Given the description of an element on the screen output the (x, y) to click on. 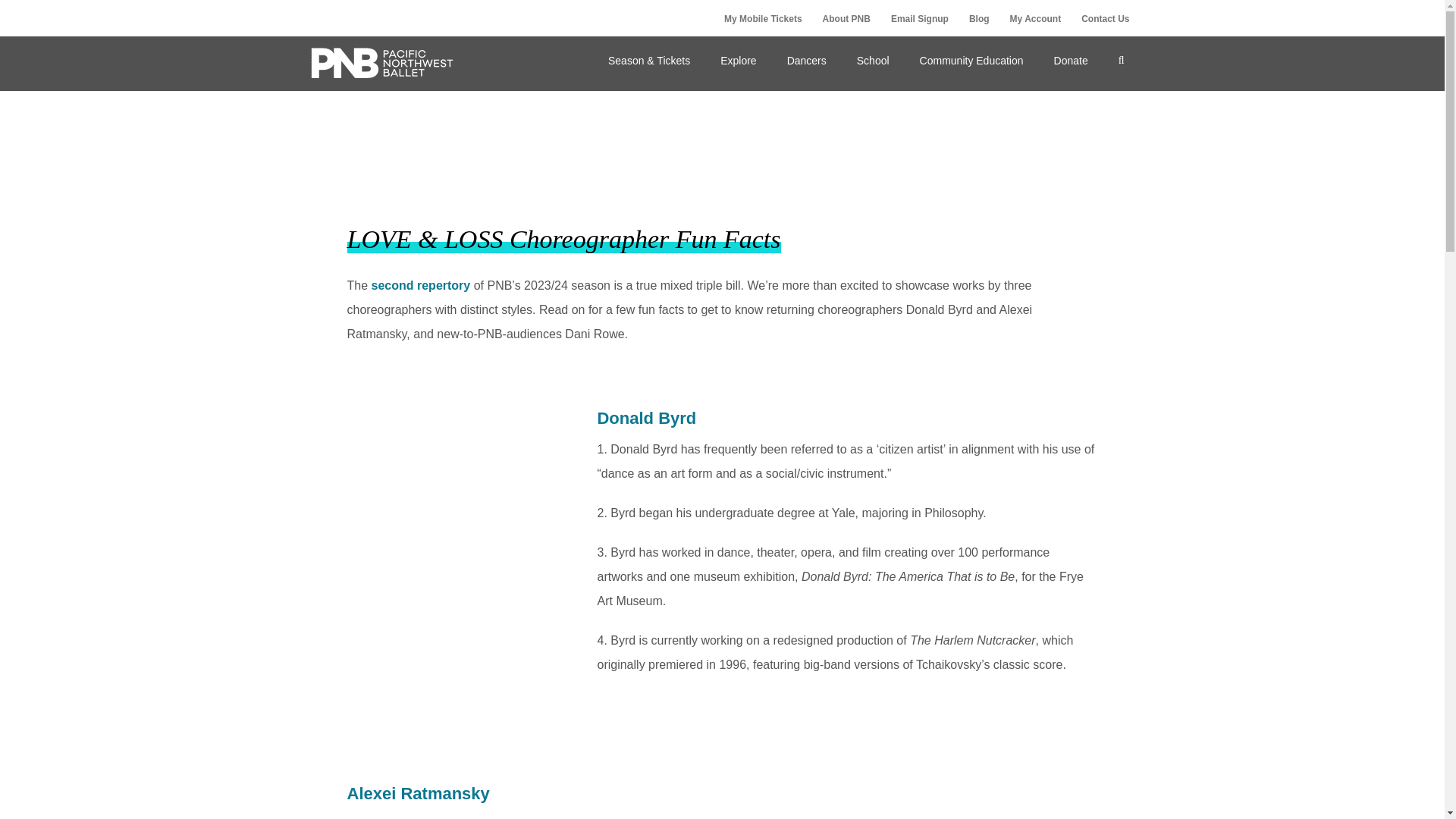
My Account (1035, 19)
Contact Us (1104, 19)
Community Education (971, 60)
Donate (1071, 60)
Dancers (806, 60)
Email Signup (919, 19)
Blog (978, 19)
My Mobile Tickets (762, 19)
About PNB (846, 19)
School (872, 60)
Explore (737, 60)
